Given the description of an element on the screen output the (x, y) to click on. 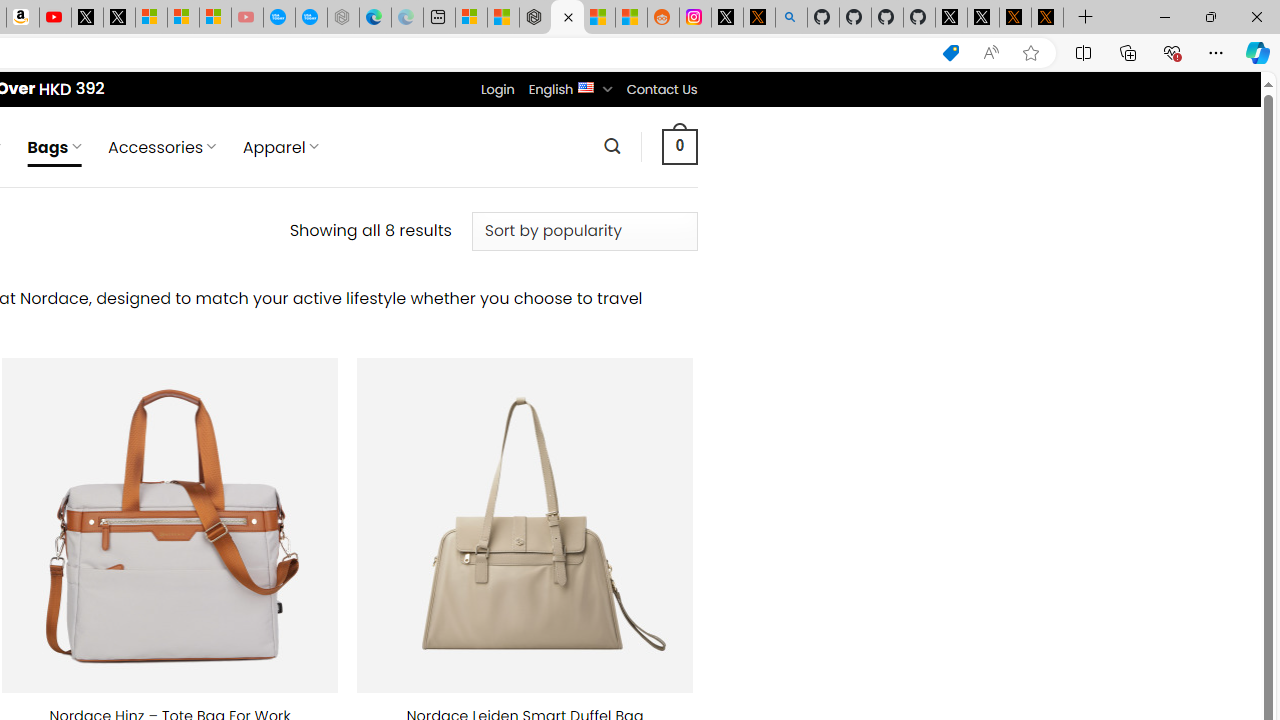
X Privacy Policy (1047, 17)
The most popular Google 'how to' searches (310, 17)
GitHub (@github) / X (983, 17)
Nordace - Duffels (566, 17)
